Given the description of an element on the screen output the (x, y) to click on. 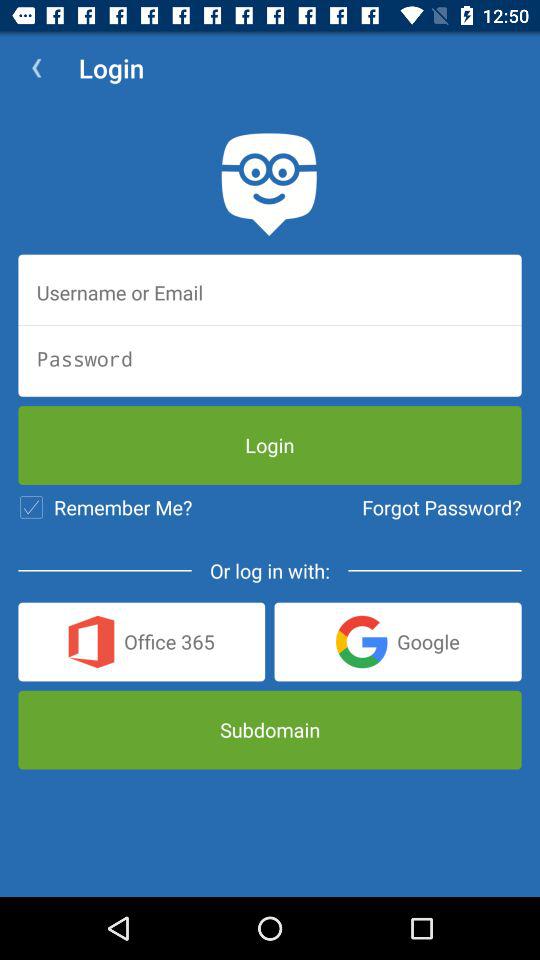
open remember me? icon (105, 507)
